Given the description of an element on the screen output the (x, y) to click on. 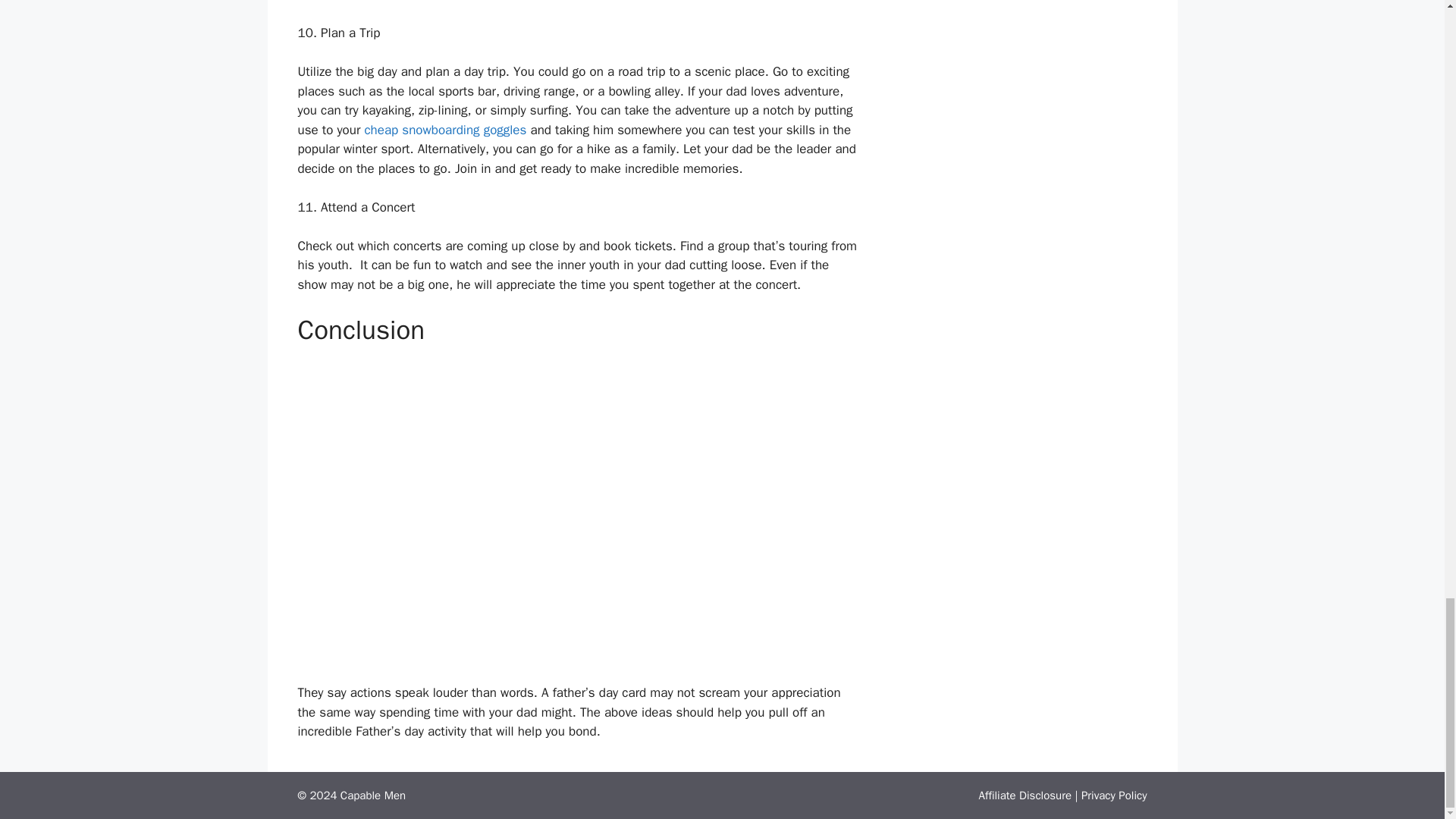
cheap snowboarding goggles (444, 130)
